Given the description of an element on the screen output the (x, y) to click on. 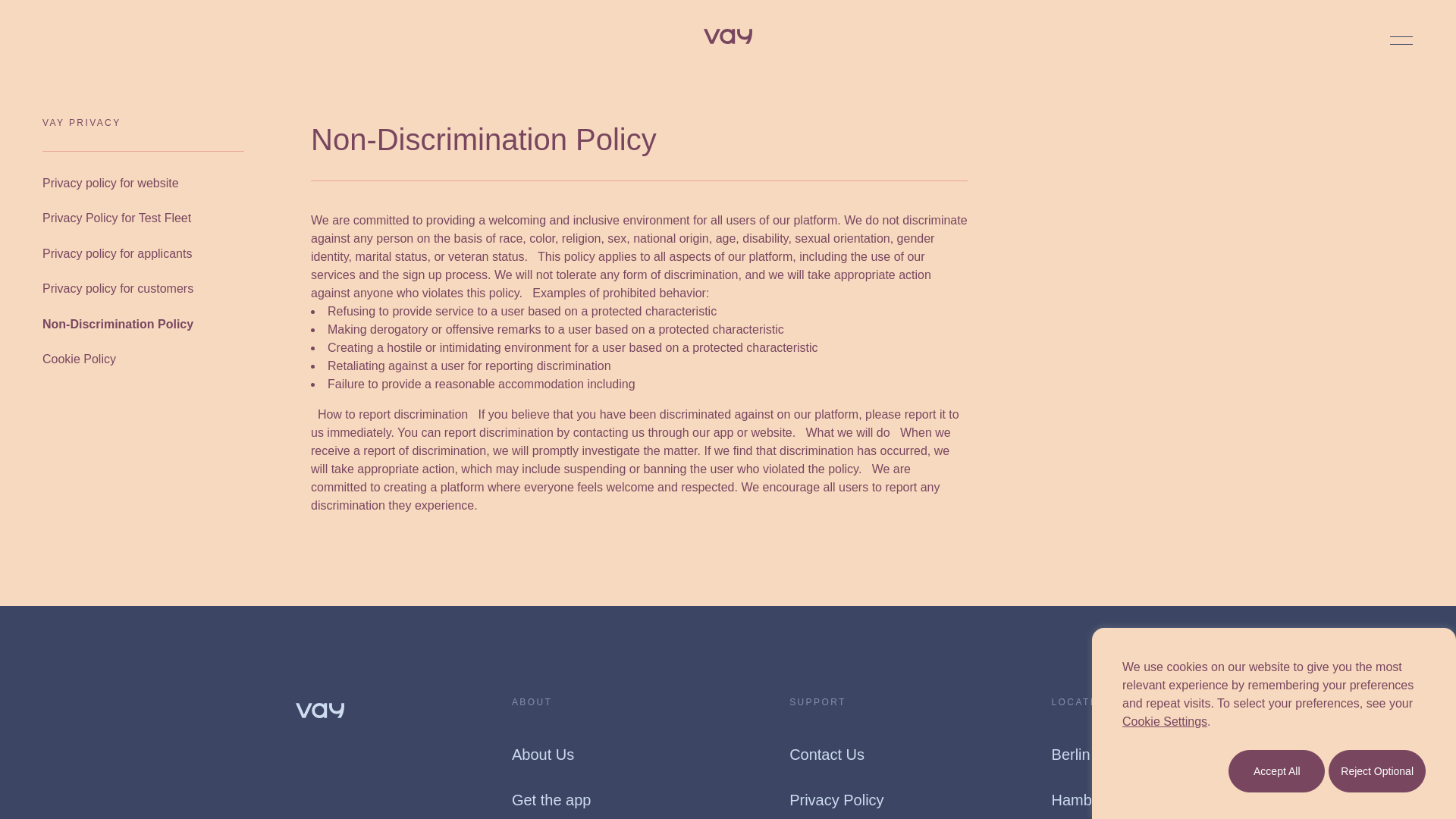
Privacy Policy for Test Fleet (116, 218)
Privacy policy for website (110, 183)
Privacy policy for applicants (117, 253)
Non-Discrimination Policy (117, 324)
Cookie Policy (79, 359)
Privacy policy for customers (117, 289)
